Given the description of an element on the screen output the (x, y) to click on. 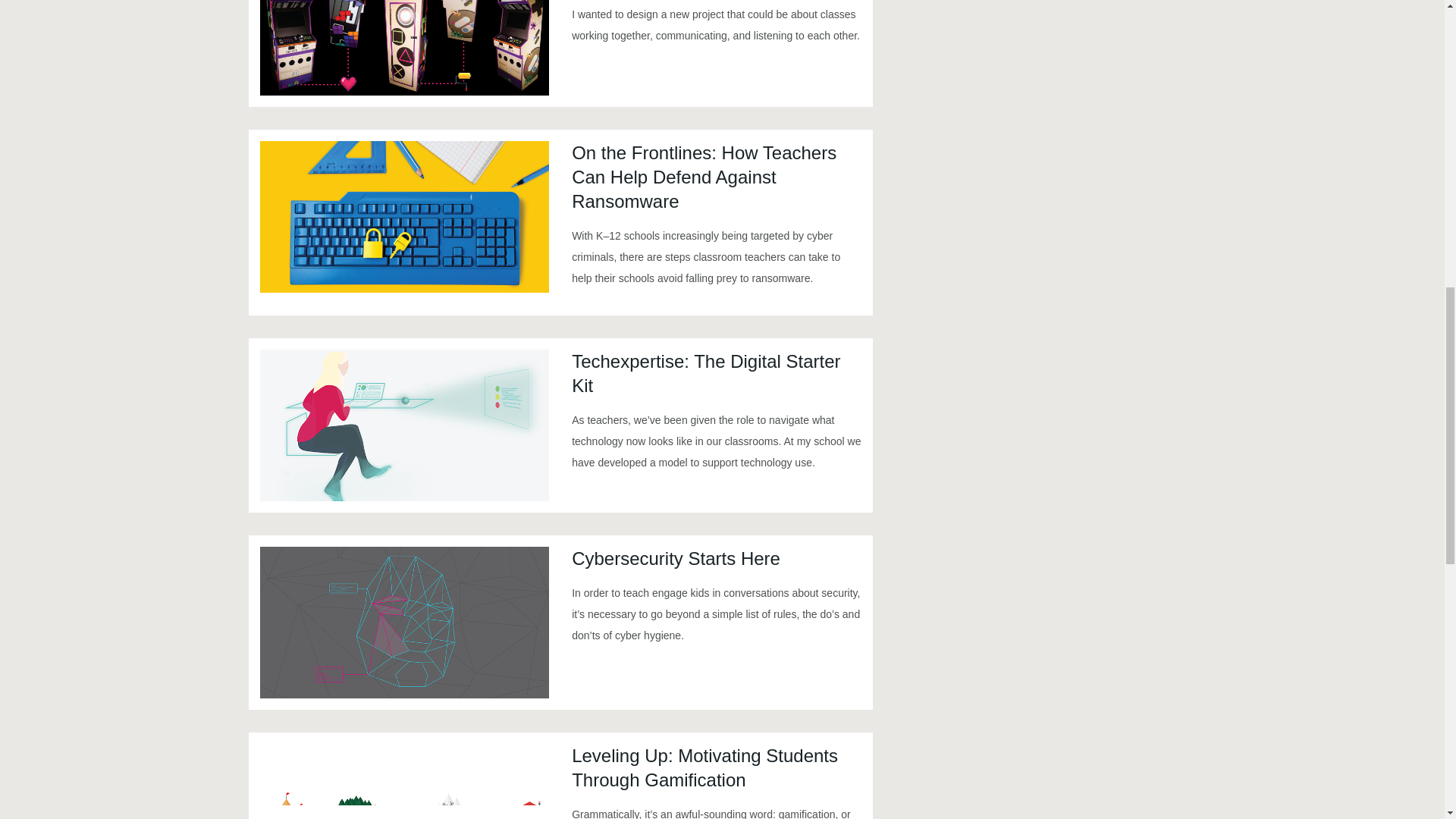
Permalink to Keeping It Old School: The Retro Arcade Project (403, 47)
Permalink to Cybersecurity Starts Here (403, 622)
Permalink to Techexpertise: The Digital Starter Kit (403, 425)
